Given the description of an element on the screen output the (x, y) to click on. 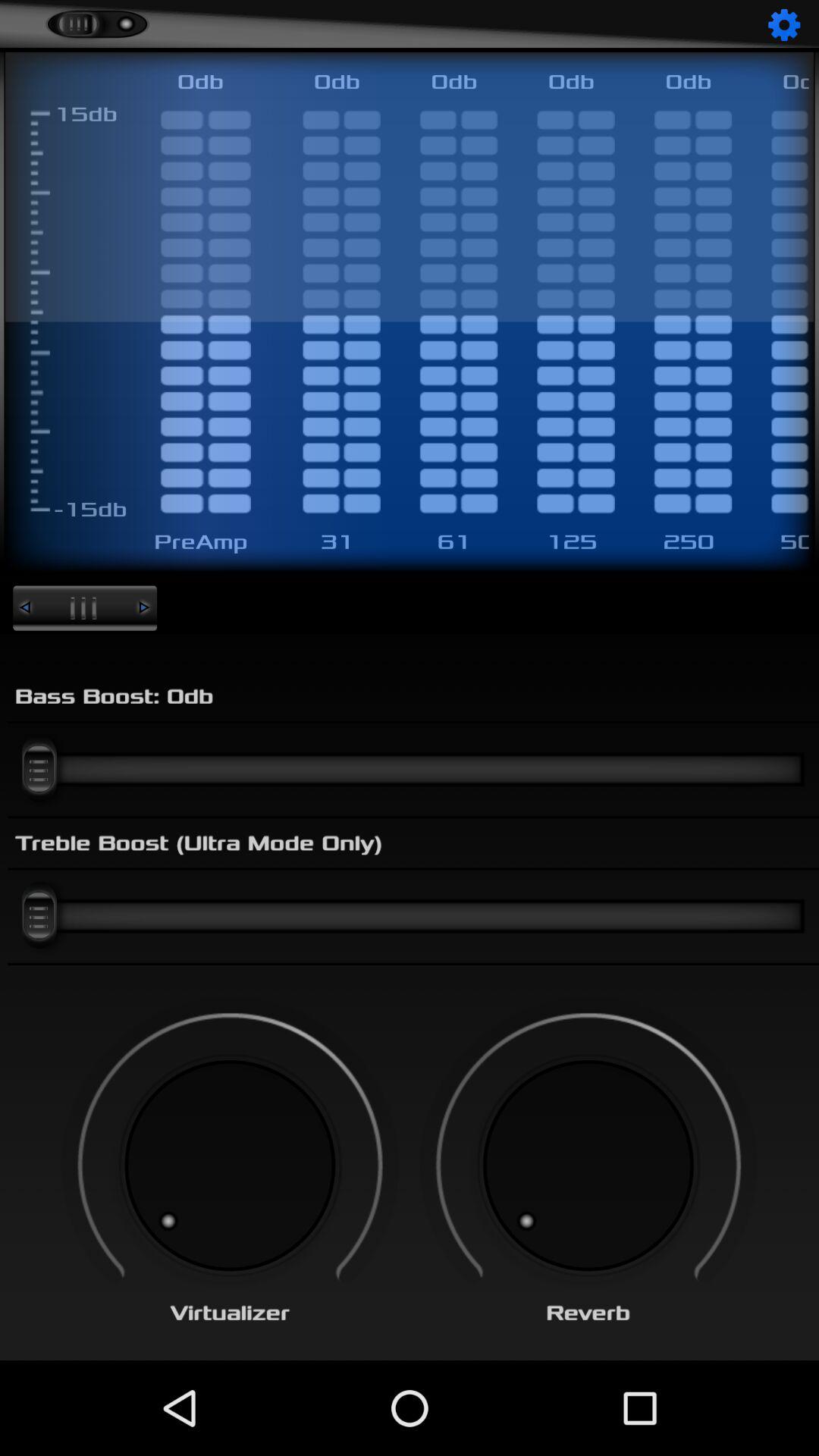
adjust virtualizer (229, 1165)
